Given the description of an element on the screen output the (x, y) to click on. 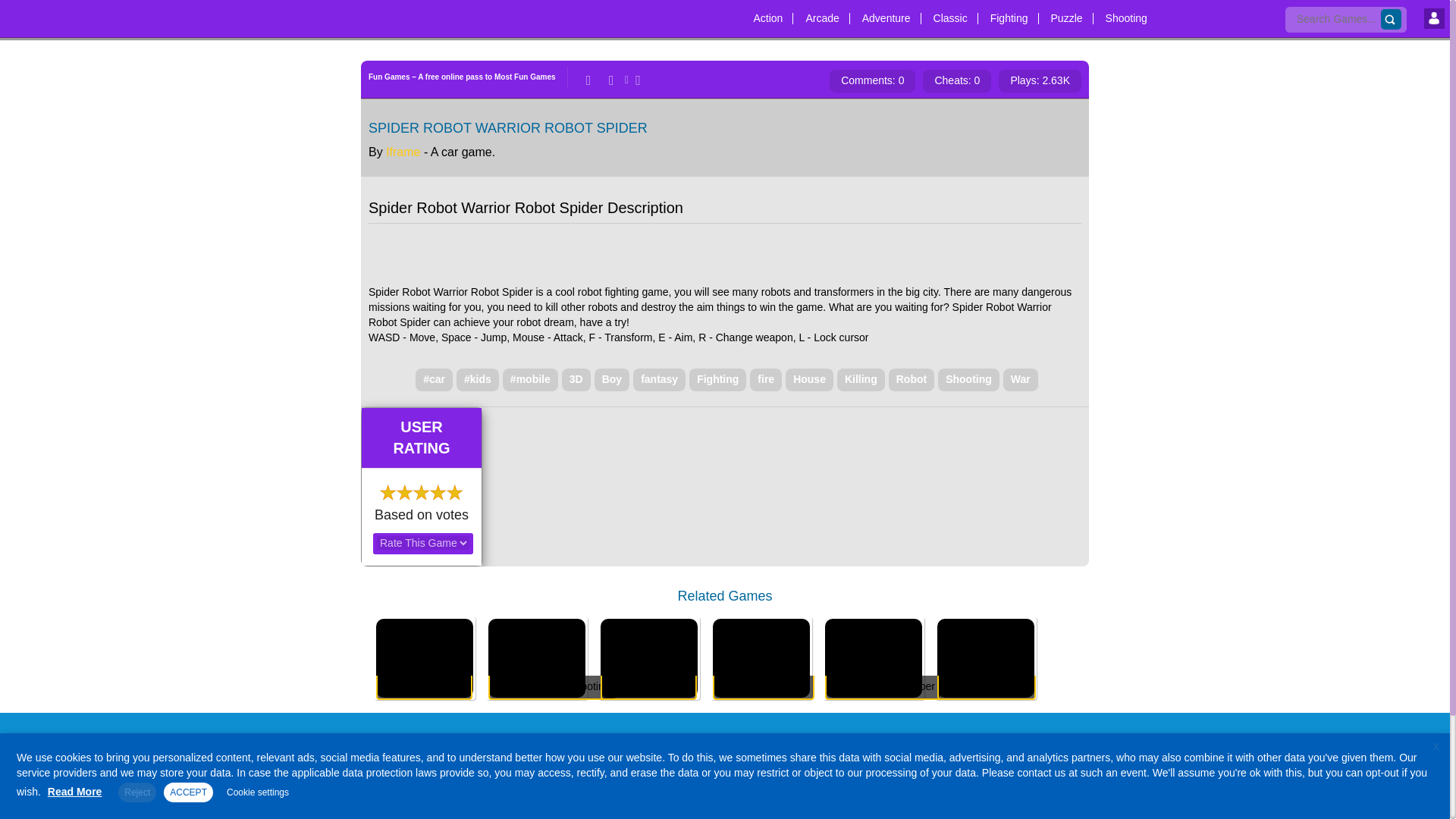
Play in fullscreen (635, 79)
Arcade (821, 13)
Mineblock Gun Shooting (536, 650)
Gun Evolution (424, 650)
Adventure (885, 13)
Action (767, 13)
